Given the description of an element on the screen output the (x, y) to click on. 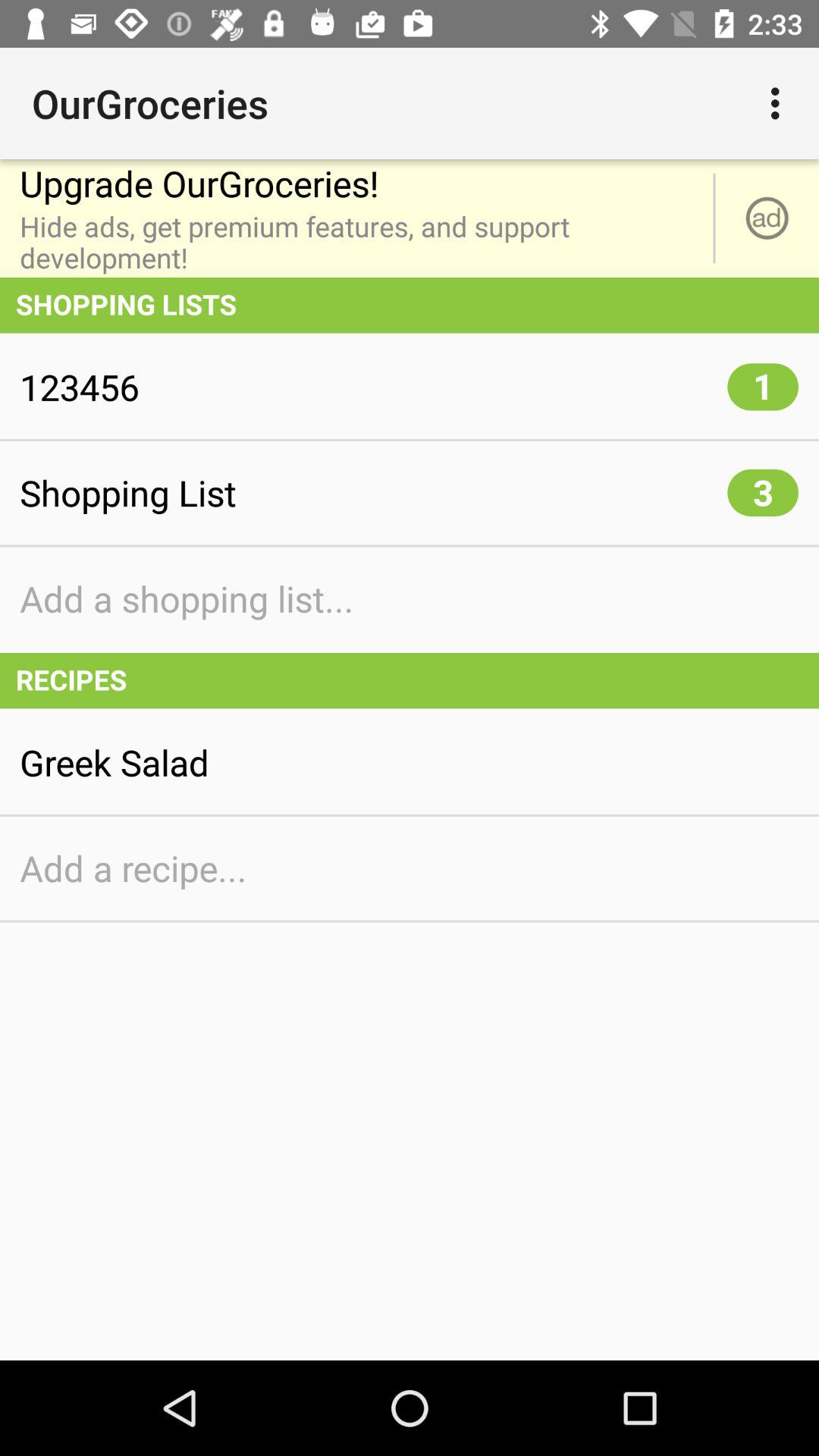
tap item to the right of the upgrade ourgroceries! icon (767, 218)
